Given the description of an element on the screen output the (x, y) to click on. 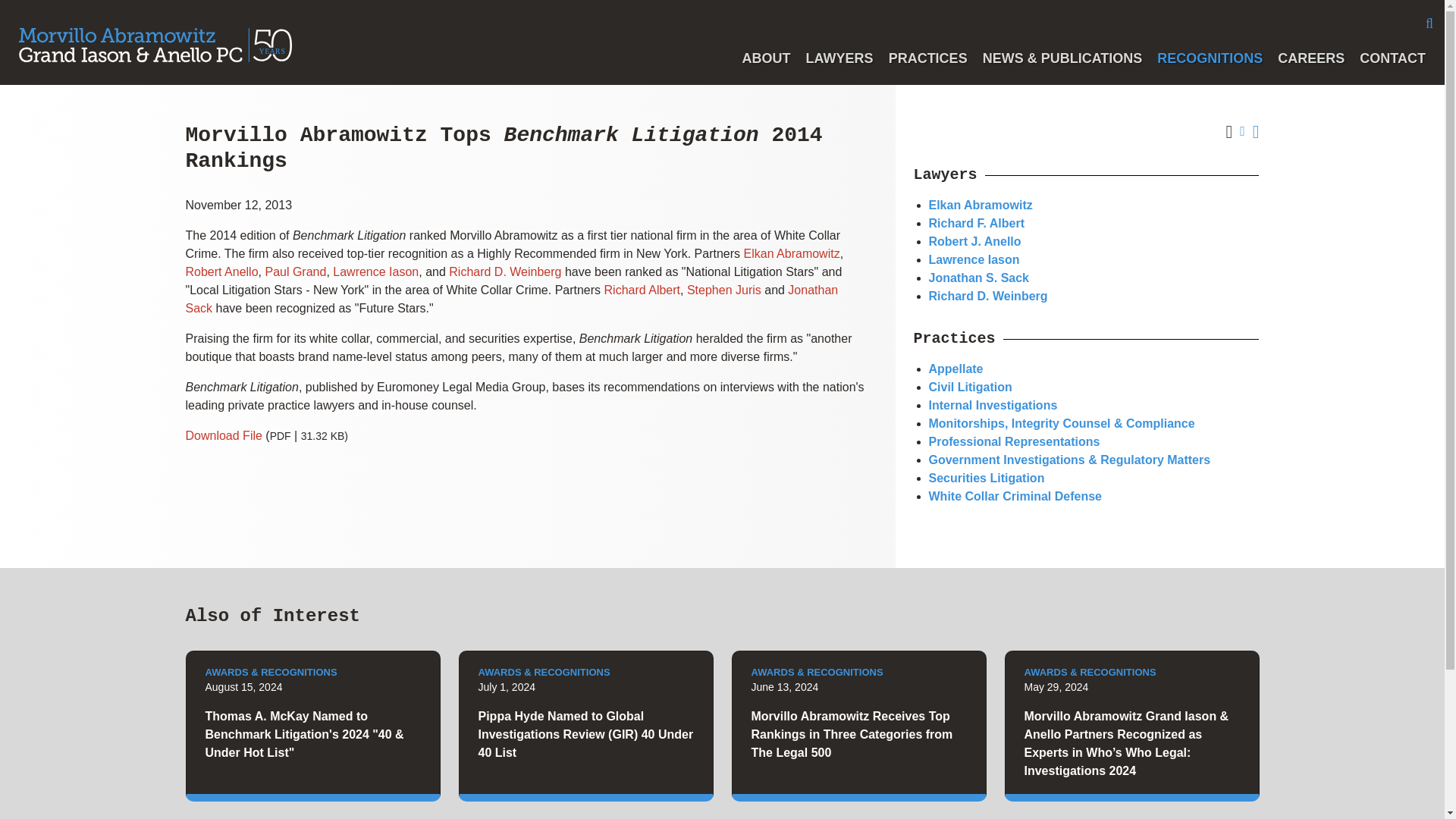
Richard Albert (642, 289)
Paul Grand (295, 271)
Elkan Abramowitz (791, 253)
Richard D. Weinberg (504, 271)
CONTACT (1392, 58)
Elkan Abramowitz (980, 205)
Appellate (955, 368)
Securities Litigation (985, 477)
LAWYERS (839, 58)
Stephen Juris (724, 289)
